Given the description of an element on the screen output the (x, y) to click on. 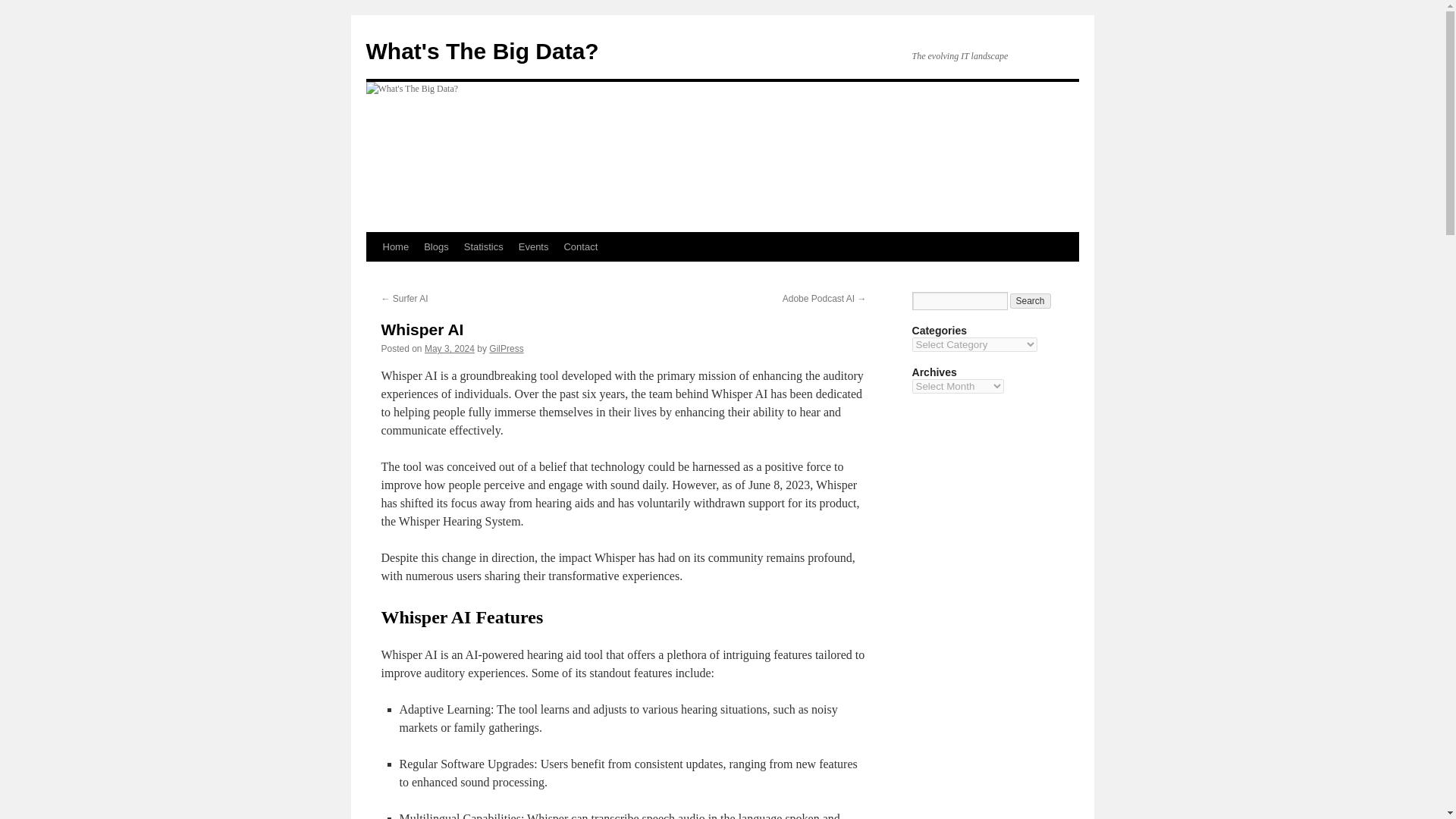
View all posts by GilPress (505, 348)
GilPress (505, 348)
What's The Big Data? (481, 50)
Home (395, 246)
2:58 am (449, 348)
May 3, 2024 (449, 348)
Statistics (484, 246)
Contact (580, 246)
Search (1030, 300)
Events (533, 246)
